Given the description of an element on the screen output the (x, y) to click on. 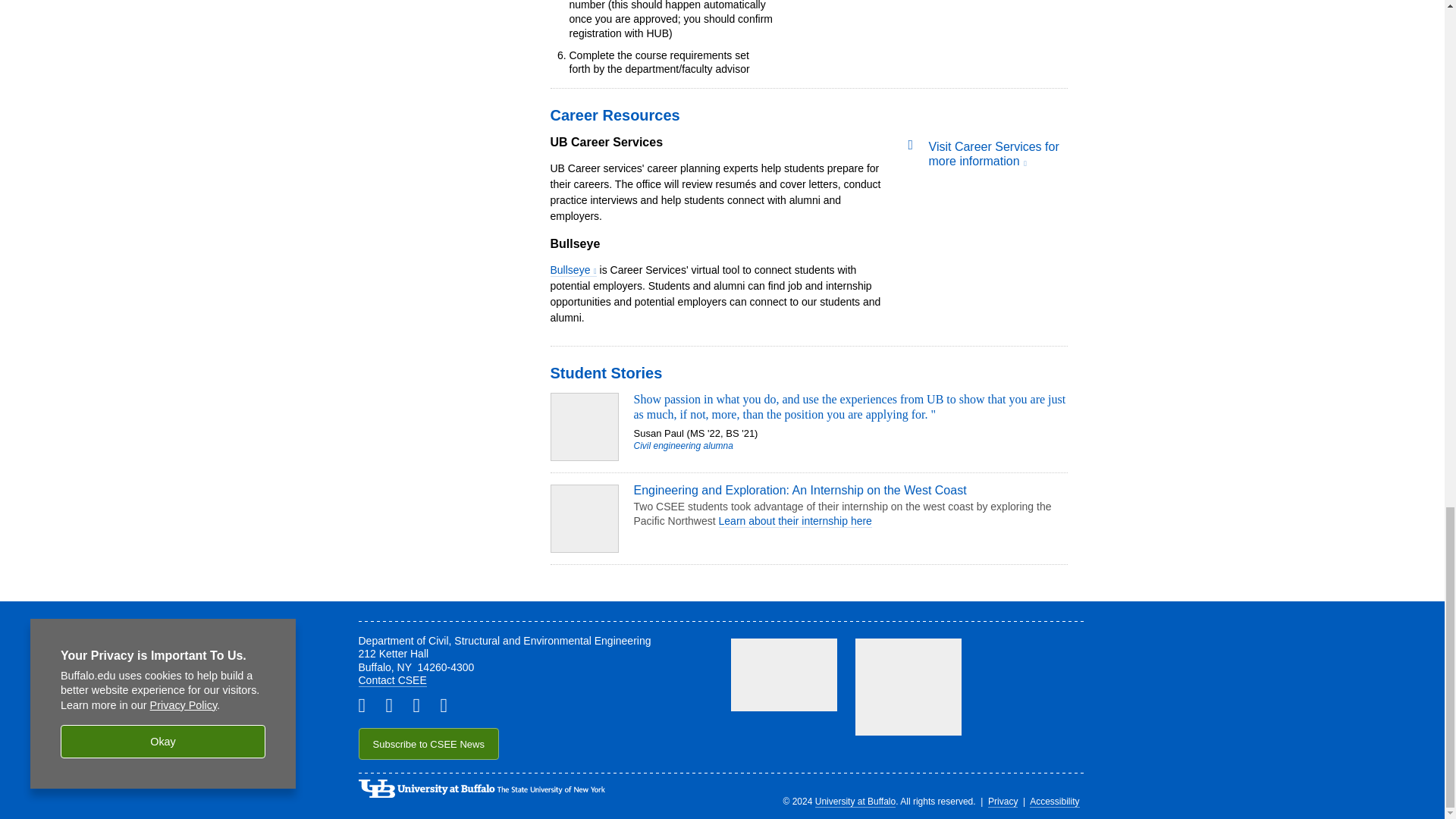
This link opens a page in a new window or tab. (573, 269)
CSEE on LinkedIn (367, 704)
CSEE on Instagram (422, 704)
CSEE on LinkedIn (394, 704)
This link opens a page in a new window or tab. (993, 153)
CSEE on YouTube (449, 704)
